Given the description of an element on the screen output the (x, y) to click on. 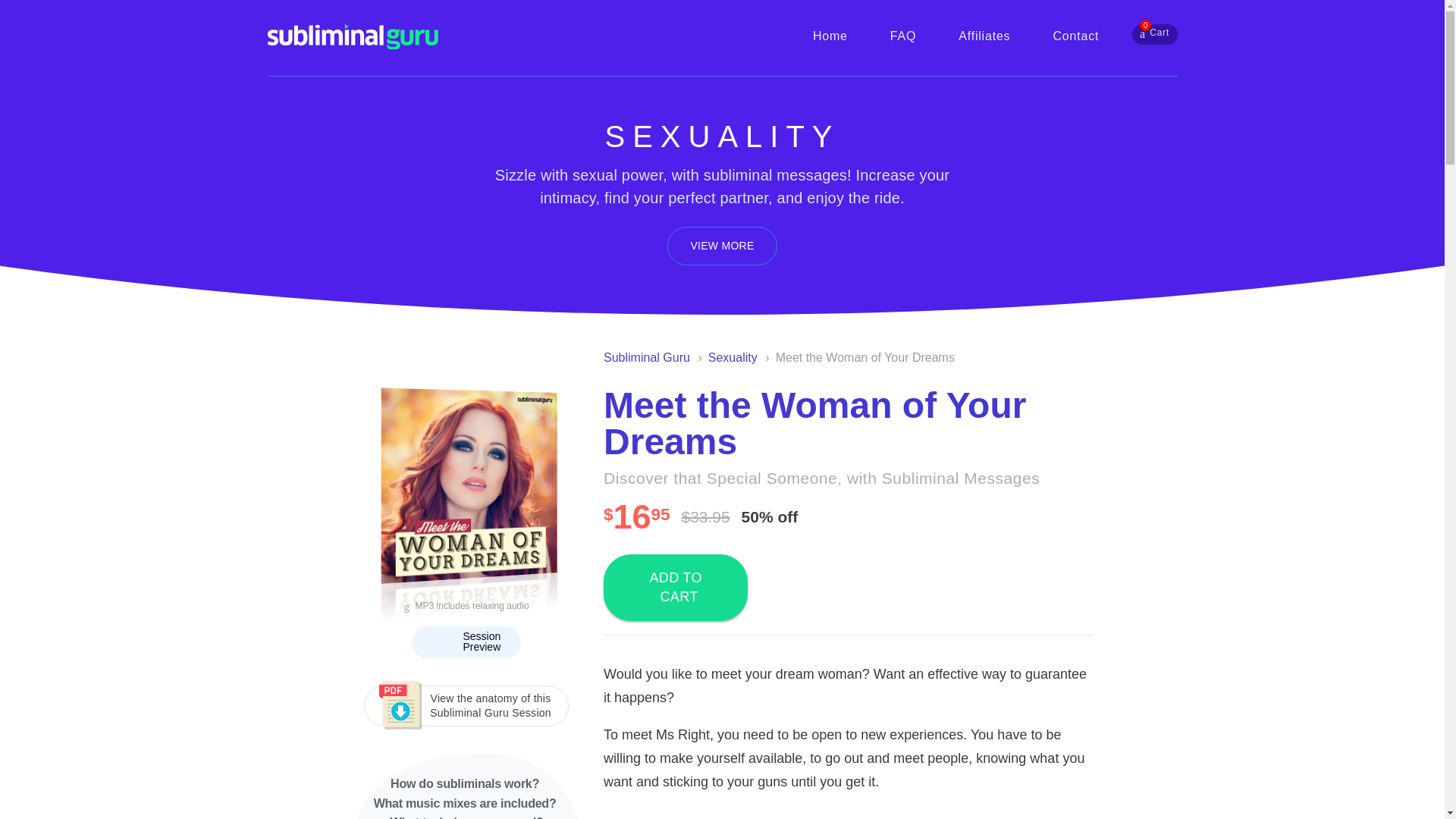
Contact (1075, 36)
Subliminal Guru (647, 357)
Home (1154, 34)
ADD TO CART (830, 36)
VIEW MORE (676, 587)
Affiliates (721, 245)
FAQ (984, 36)
View the anatomy of this Subliminal Guru Session (902, 36)
